Given the description of an element on the screen output the (x, y) to click on. 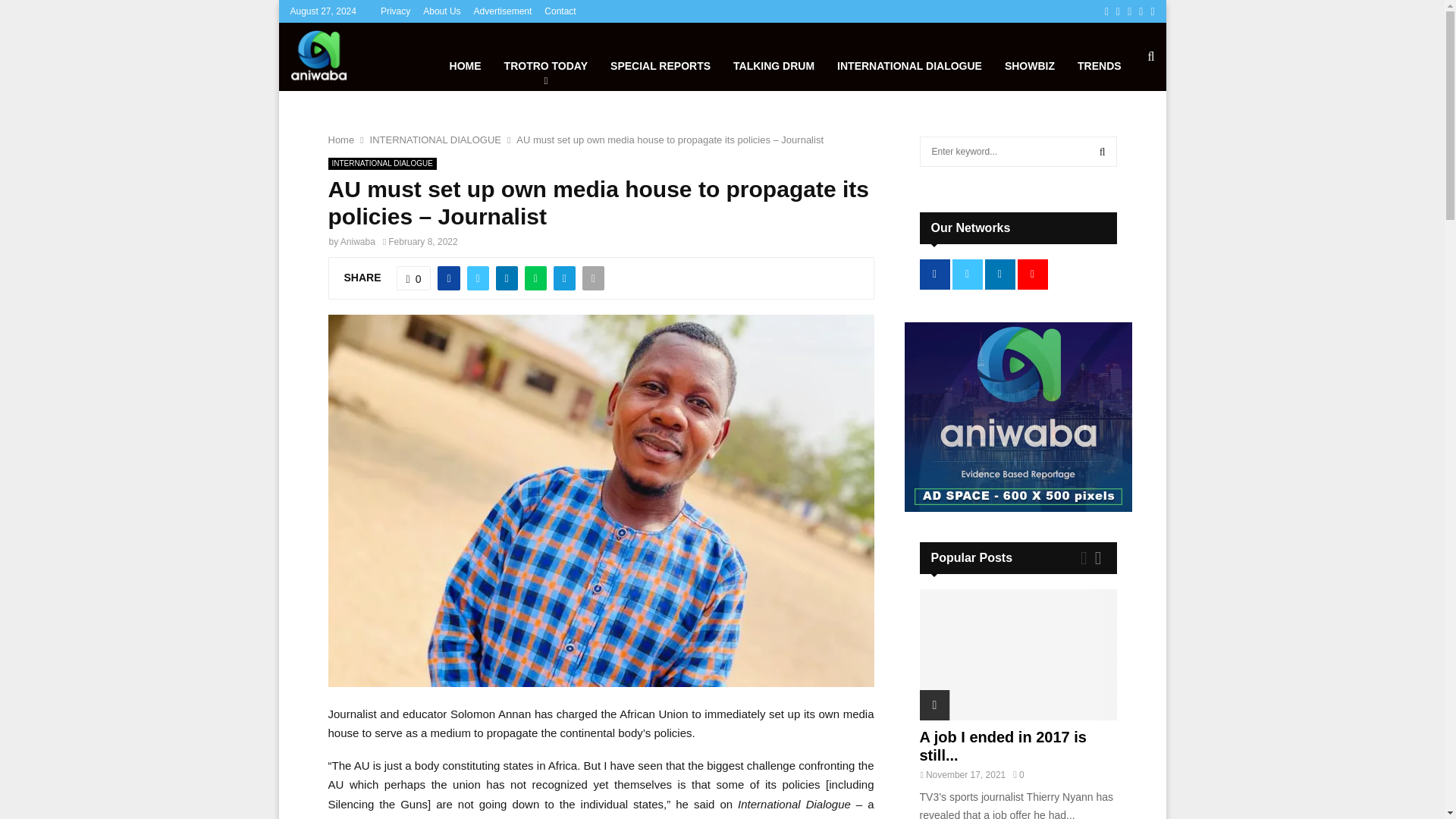
Aniwaba (357, 241)
Advertisement (503, 11)
Like (413, 278)
INTERNATIONAL DIALOGUE (434, 139)
SPECIAL REPORTS (660, 56)
TALKING DRUM (773, 56)
Privacy (395, 11)
0 (413, 278)
About Us (441, 11)
TROTRO TODAY (545, 56)
